Given the description of an element on the screen output the (x, y) to click on. 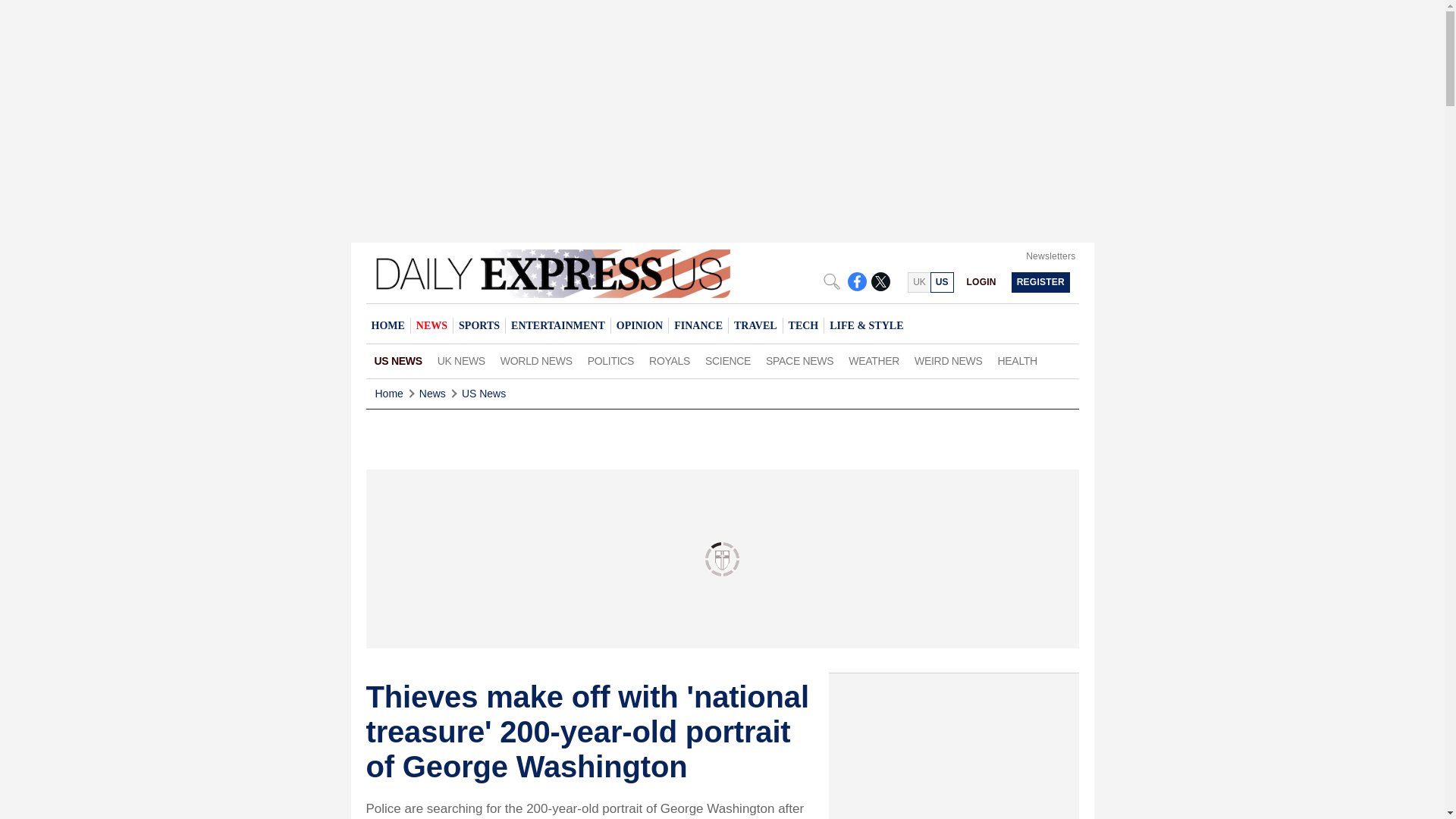
Find us on Facebook (856, 281)
WEATHER (874, 361)
SCIENCE (727, 361)
OPINION (639, 325)
WORLD NEWS (536, 361)
WEIRD NEWS (948, 361)
US (941, 281)
Home (388, 393)
ENTERTAINMENT (557, 325)
the-express.com (941, 281)
Express.co.uk (918, 281)
HEALTH (1017, 361)
UK (918, 281)
News (432, 393)
Follow us on Twitter (879, 281)
